Given the description of an element on the screen output the (x, y) to click on. 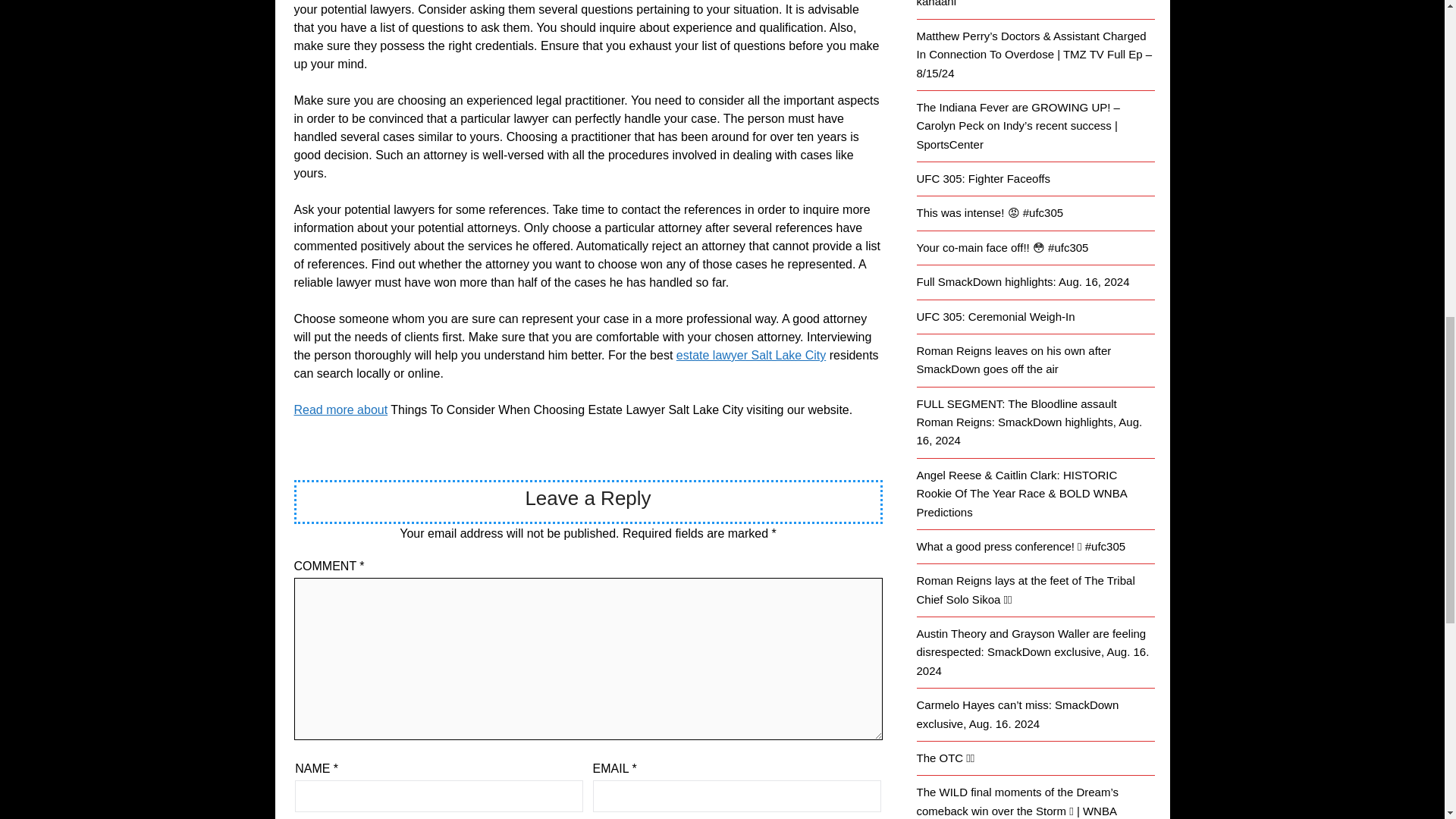
Full SmackDown highlights: Aug. 16, 2024 (1022, 281)
Read more about (341, 409)
UFC 305: Ceremonial Weigh-In (994, 316)
estate lawyer Salt Lake City (751, 354)
UFC 305: Fighter Faceoffs (982, 178)
